Given the description of an element on the screen output the (x, y) to click on. 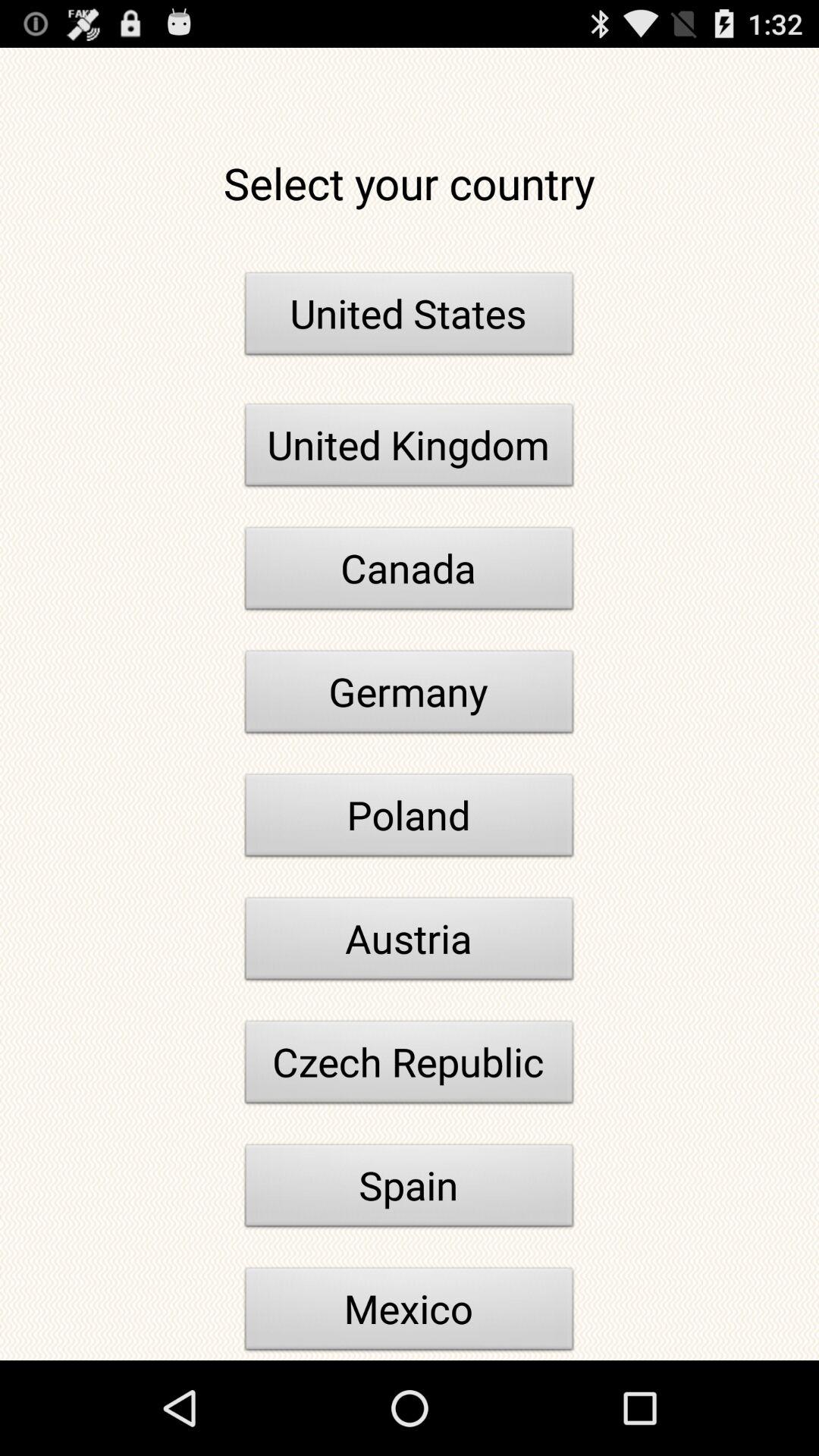
press item above the austria icon (409, 819)
